Given the description of an element on the screen output the (x, y) to click on. 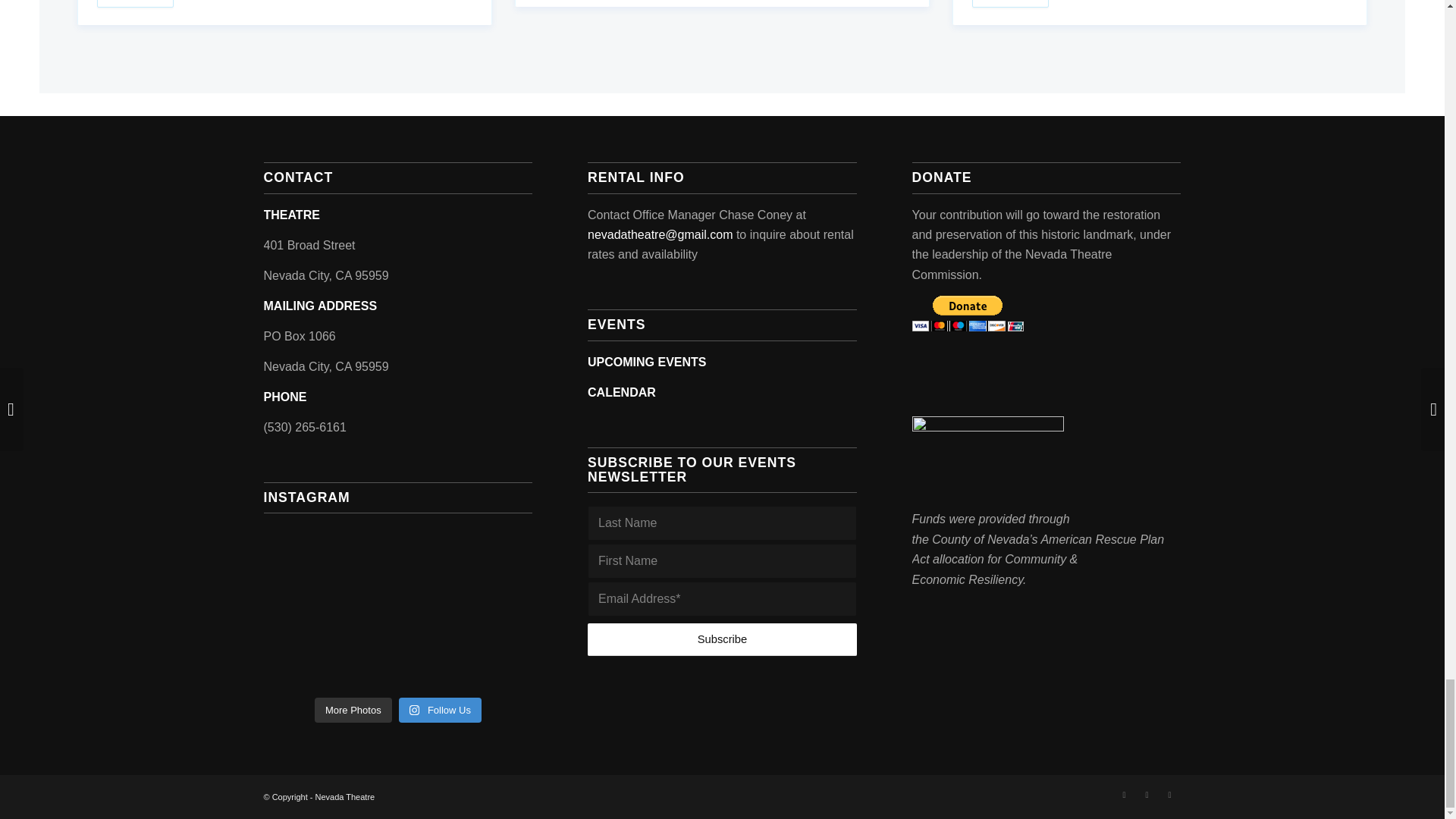
Facebook (1124, 793)
VIEW DETAIL (1010, 3)
More Photos (352, 710)
Subscribe (722, 639)
Mail (1169, 793)
VIEW DETAIL (135, 3)
Instagram (1146, 793)
